Given the description of an element on the screen output the (x, y) to click on. 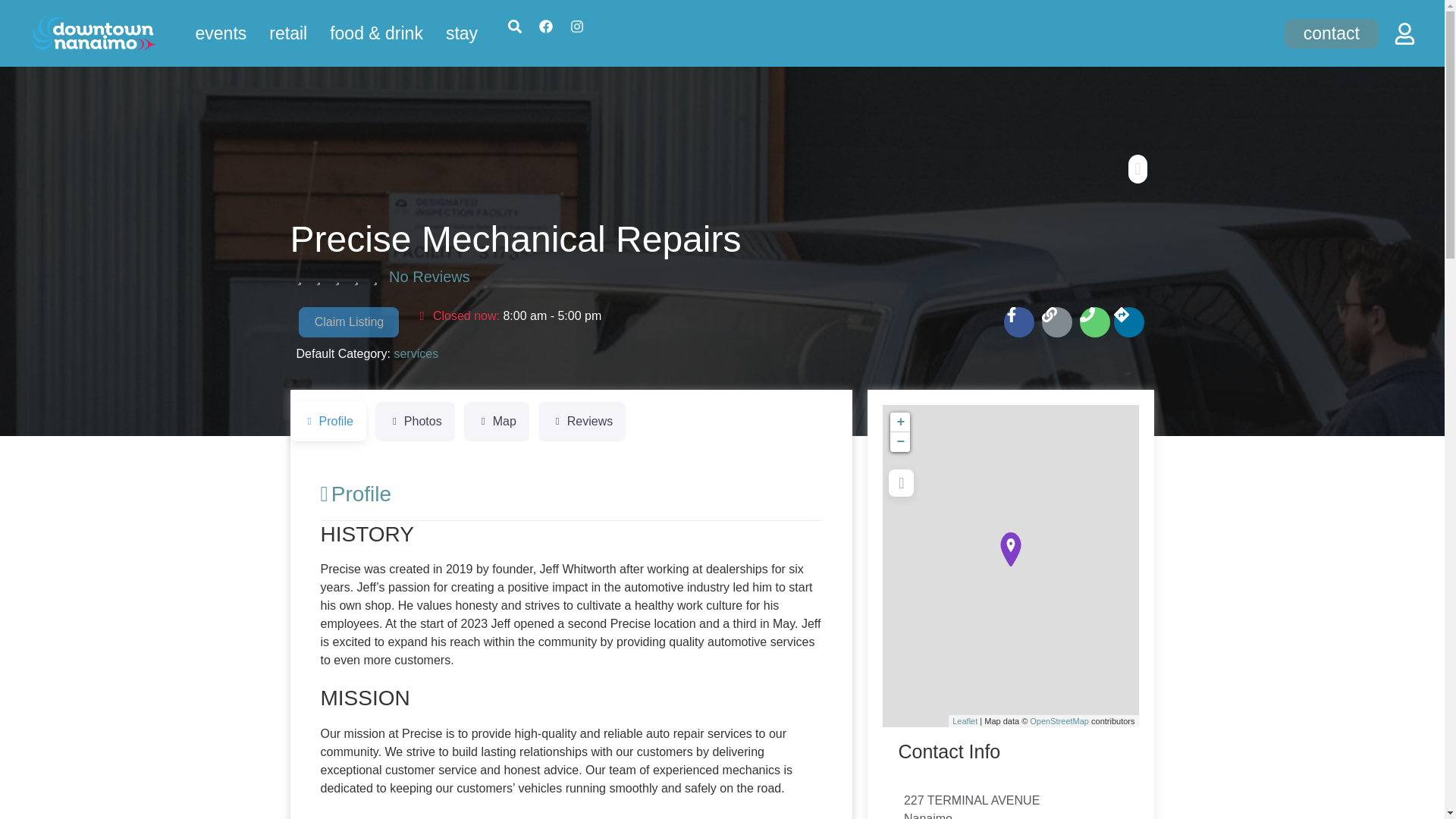
Reviews (582, 421)
stay (461, 1)
Expand opening hours (551, 315)
Photos (414, 421)
Profile (327, 421)
contact (1331, 16)
No rating yet! (336, 276)
Map (496, 421)
